Given the description of an element on the screen output the (x, y) to click on. 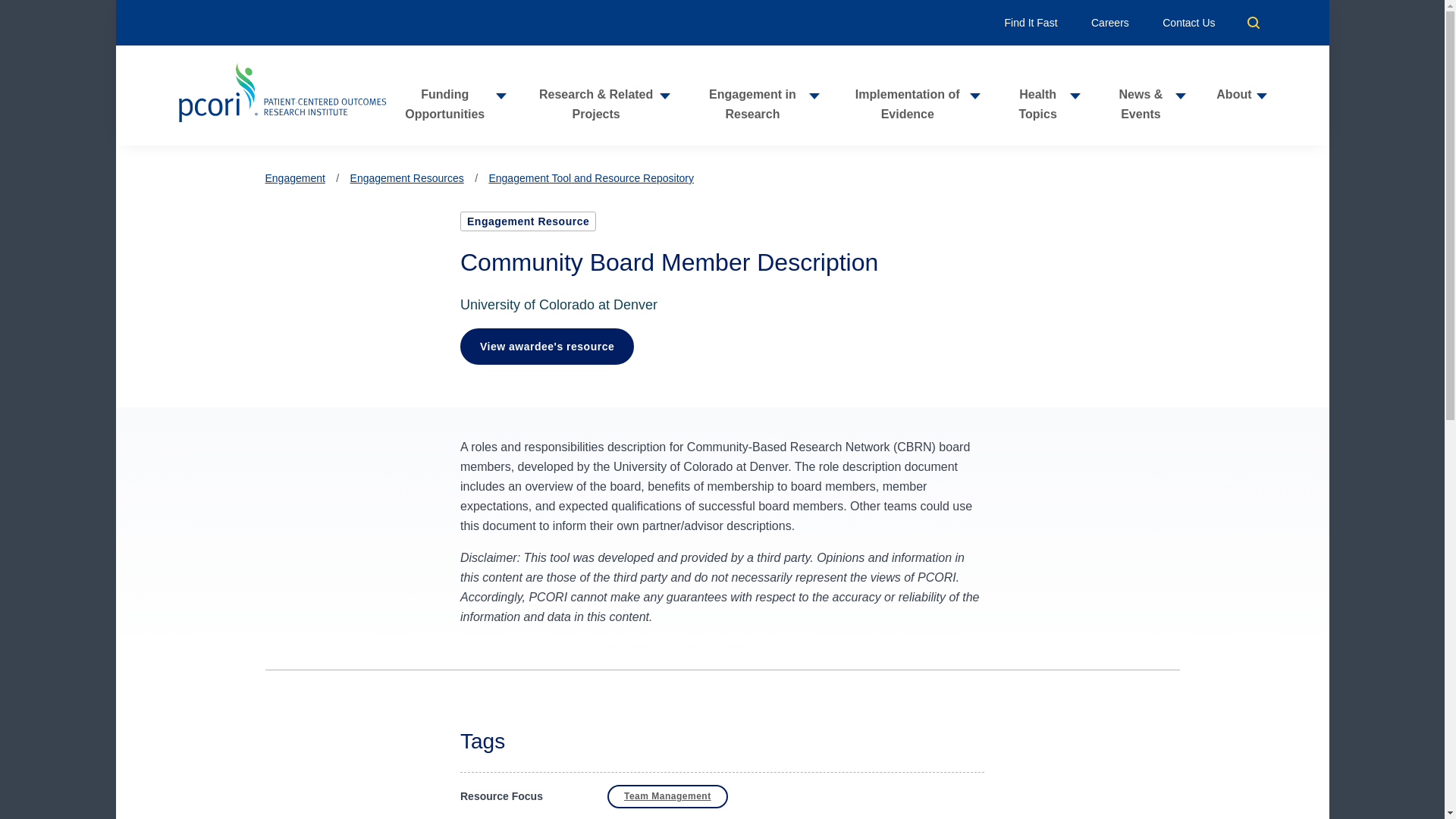
Skip to main content (721, 6)
Contact Us (1187, 22)
Search (1252, 22)
Careers (1109, 22)
Home (281, 95)
Find It Fast (1031, 22)
